Given the description of an element on the screen output the (x, y) to click on. 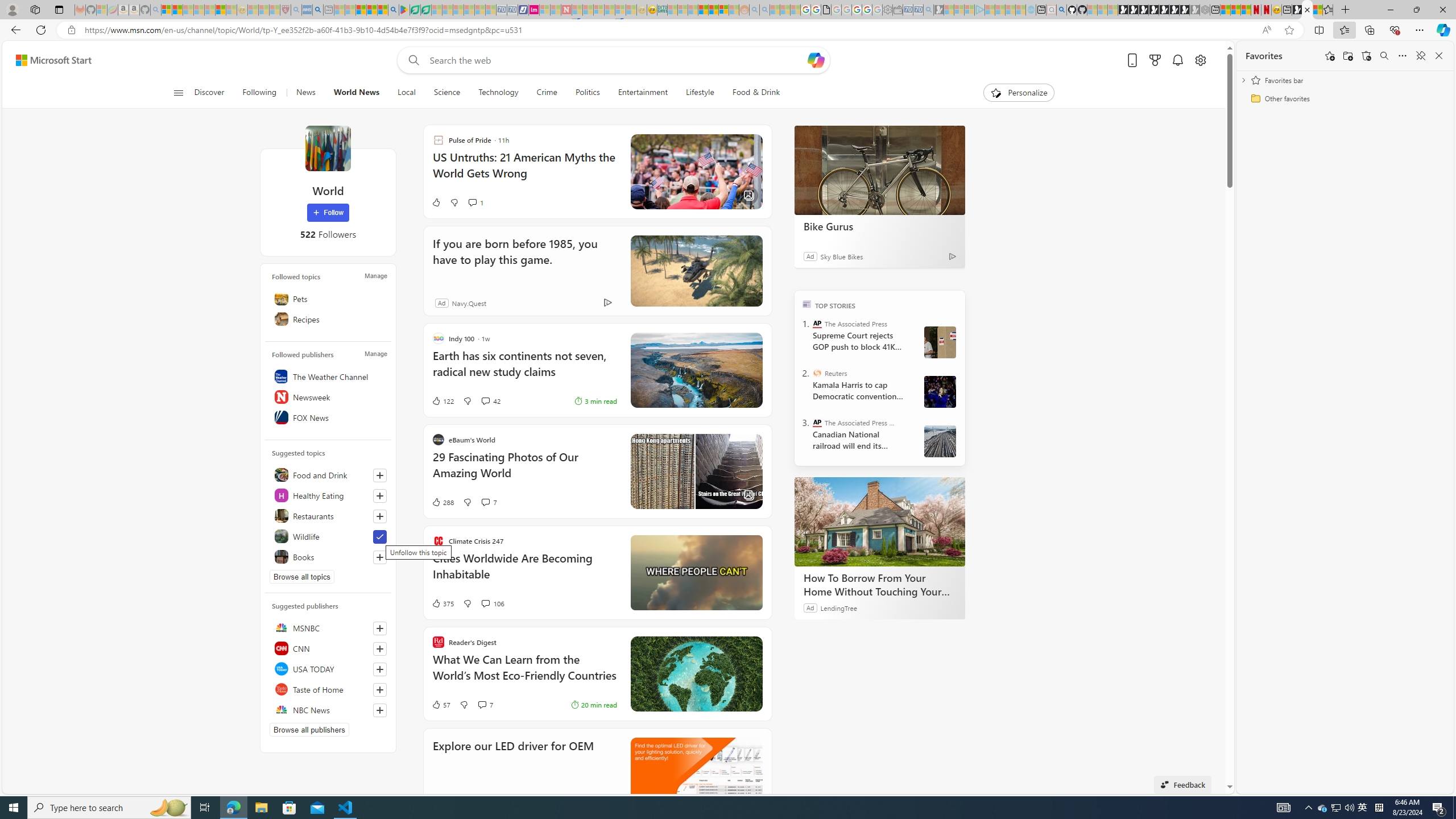
View comments 42 Comment (490, 400)
Browse all topics (301, 576)
Explore our LED driver for OEMAdInventronics (596, 773)
Sky Blue Bikes (841, 256)
Healthy Eating (327, 495)
